Given the description of an element on the screen output the (x, y) to click on. 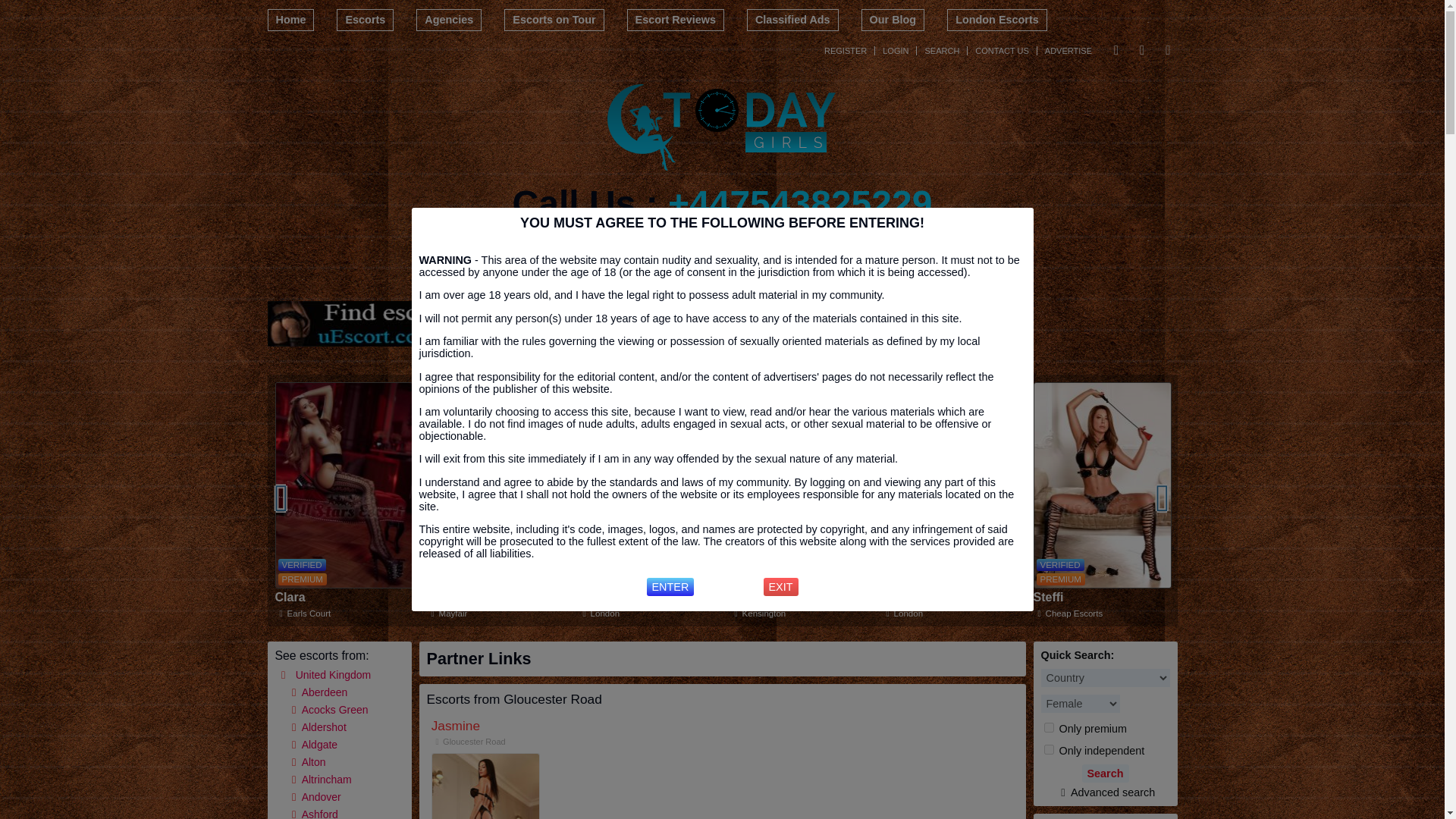
Search (1104, 773)
1 (1047, 727)
yes (1047, 749)
